Given the description of an element on the screen output the (x, y) to click on. 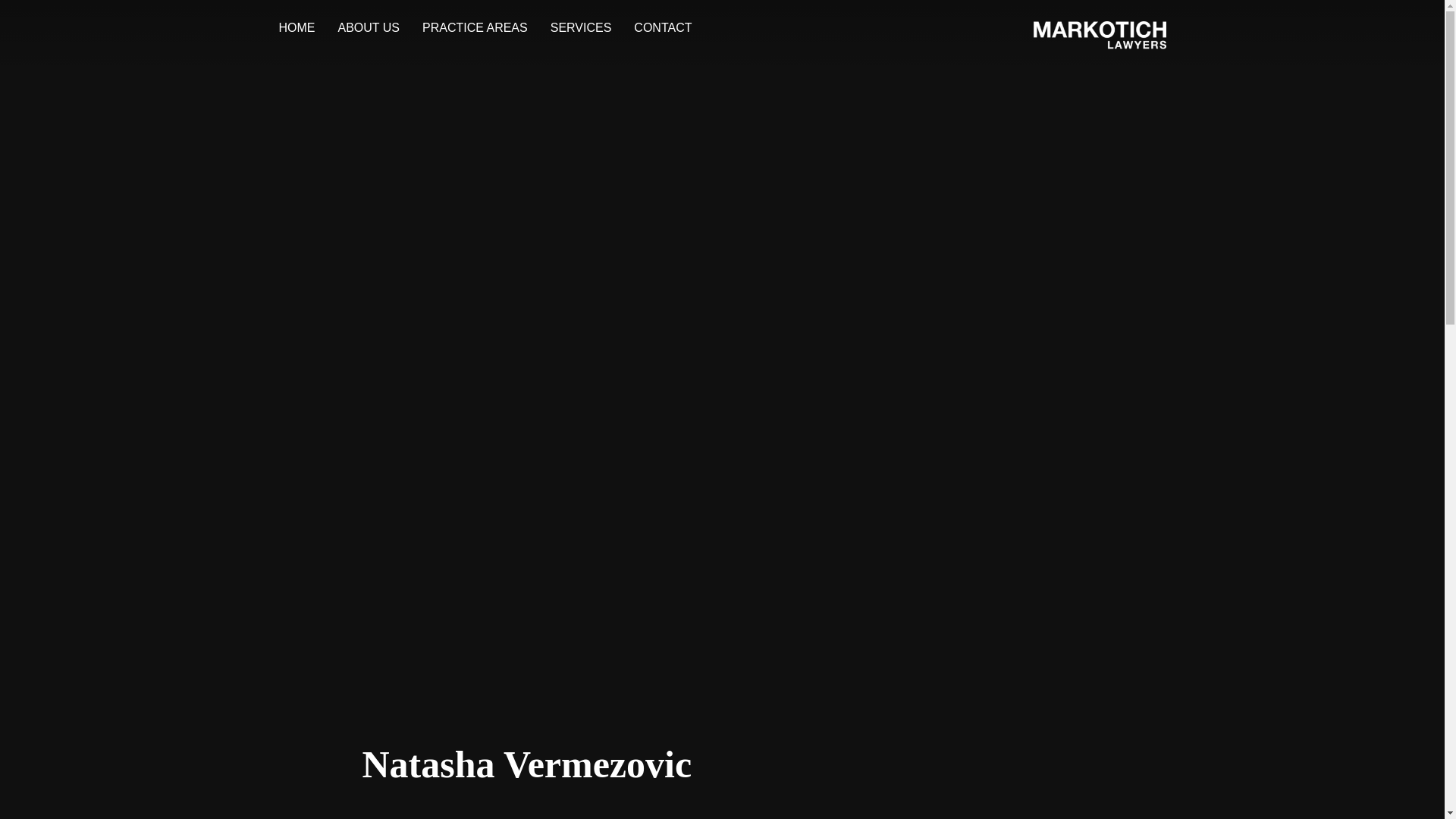
ABOUT US Element type: text (369, 27)
PRACTICE AREAS Element type: text (474, 27)
SERVICES Element type: text (580, 27)
HOME Element type: text (297, 27)
CONTACT Element type: text (662, 27)
